Given the description of an element on the screen output the (x, y) to click on. 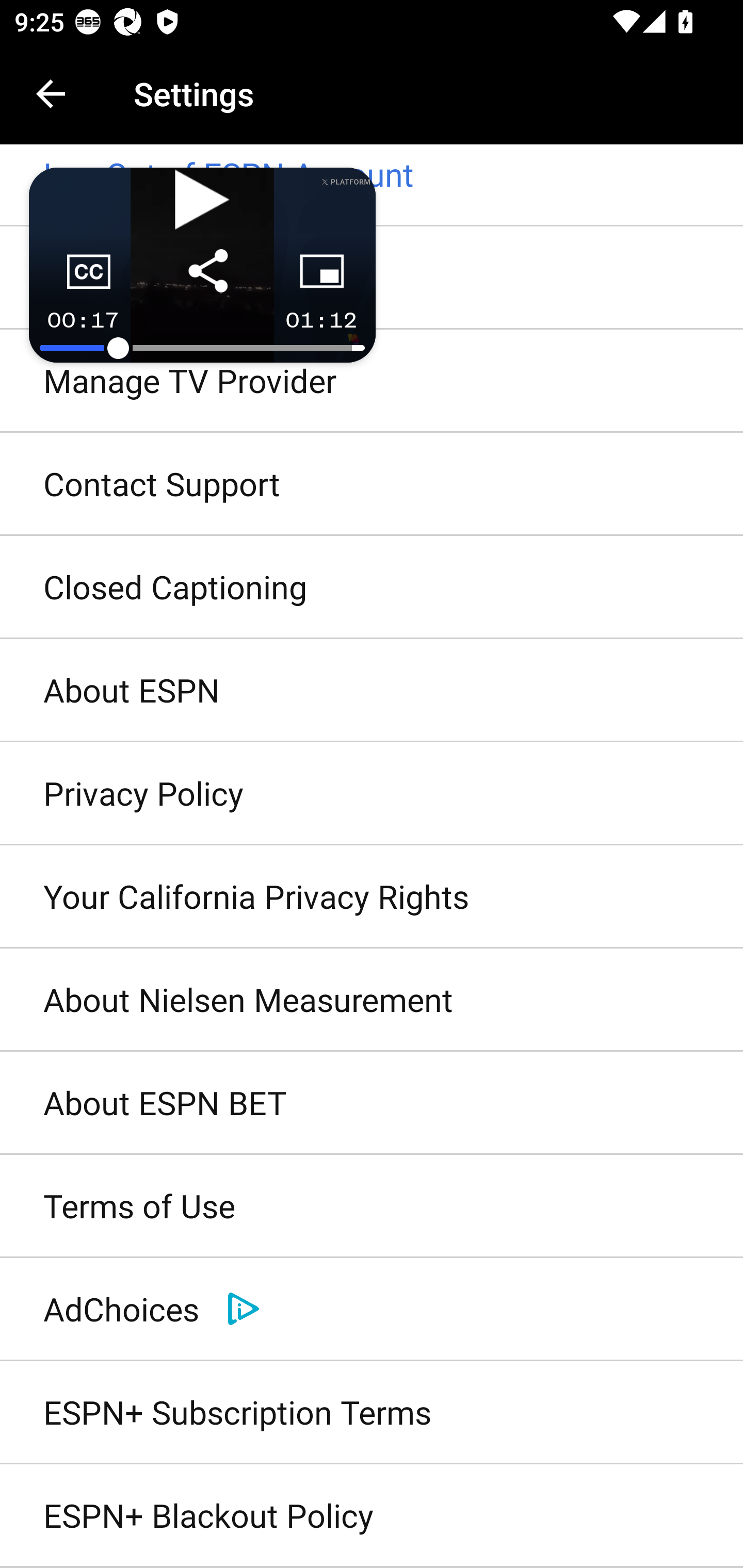
Navigate up (50, 93)
Manage TV Provider (371, 380)
Contact Support (371, 484)
Closed Captioning (371, 587)
About ESPN (371, 691)
Privacy Policy (371, 793)
Your California Privacy Rights (371, 896)
About Nielsen Measurement (371, 1000)
About ESPN BET (371, 1103)
Terms of Use (371, 1207)
AdChoices (371, 1309)
ESPN+ Subscription Terms (371, 1412)
ESPN+ Blackout Policy (371, 1516)
